Given the description of an element on the screen output the (x, y) to click on. 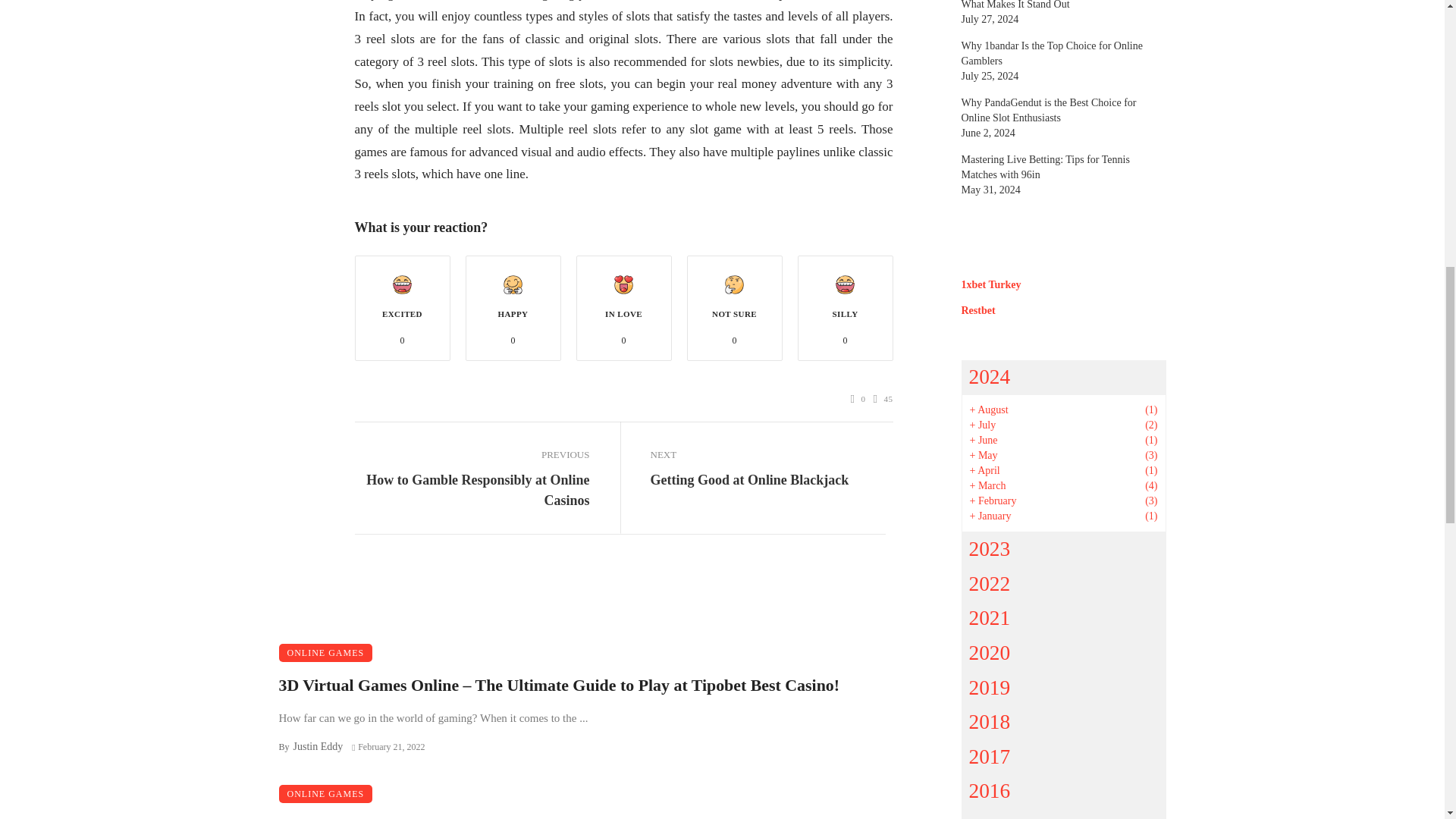
45 (883, 399)
NEXT (767, 455)
Getting Good at Online Blackjack (749, 480)
Be Bold To Select an internet-based Game Of Your Choosing (493, 816)
ONLINE GAMES (325, 793)
45 Views (883, 399)
How to Gamble Responsibly at Online Casinos (472, 490)
0 Comments (858, 399)
0 (858, 399)
PREVIOUS (472, 455)
